Given the description of an element on the screen output the (x, y) to click on. 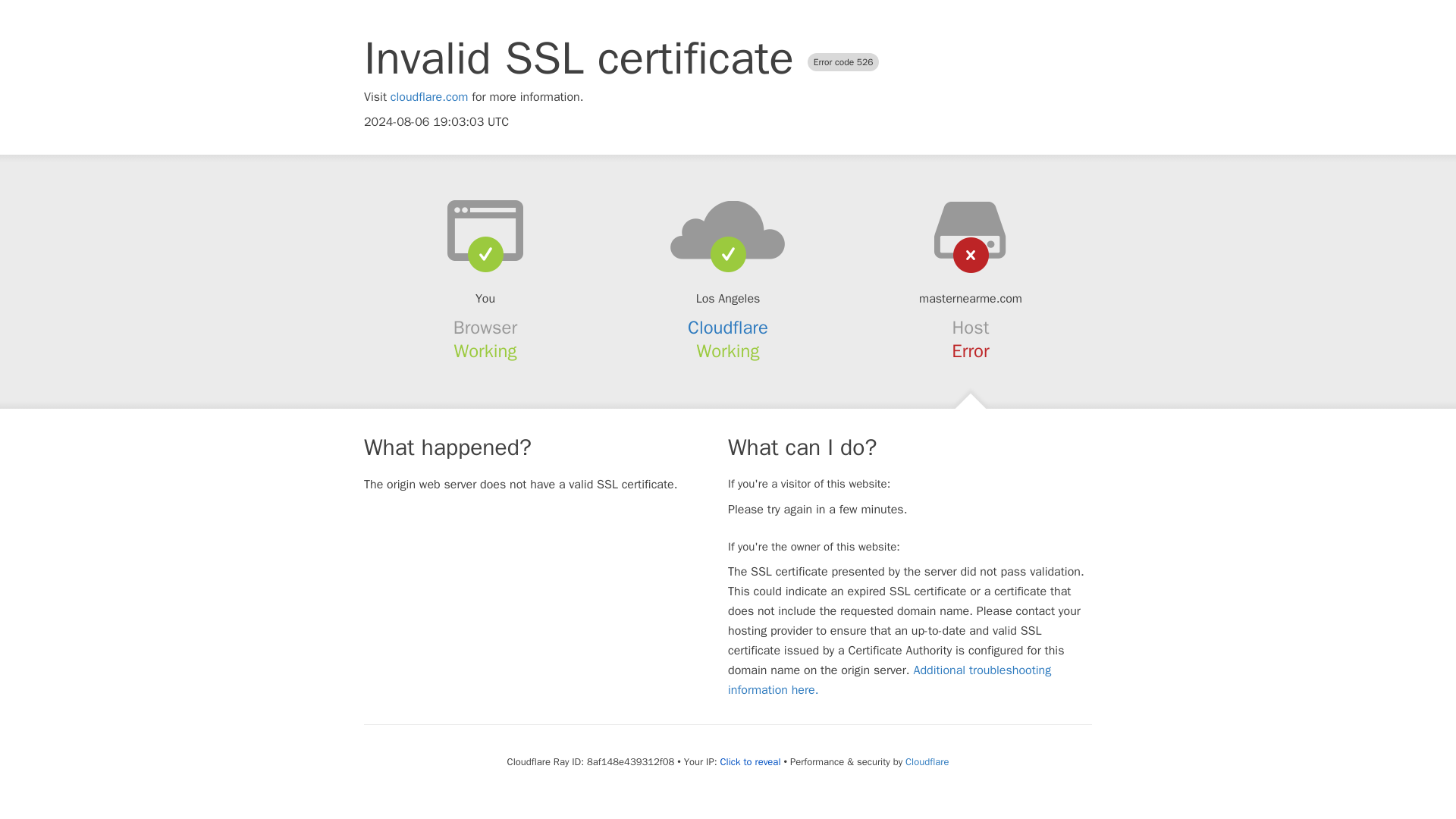
Cloudflare (927, 761)
Click to reveal (750, 762)
Cloudflare (727, 327)
cloudflare.com (429, 96)
Additional troubleshooting information here. (889, 679)
